Given the description of an element on the screen output the (x, y) to click on. 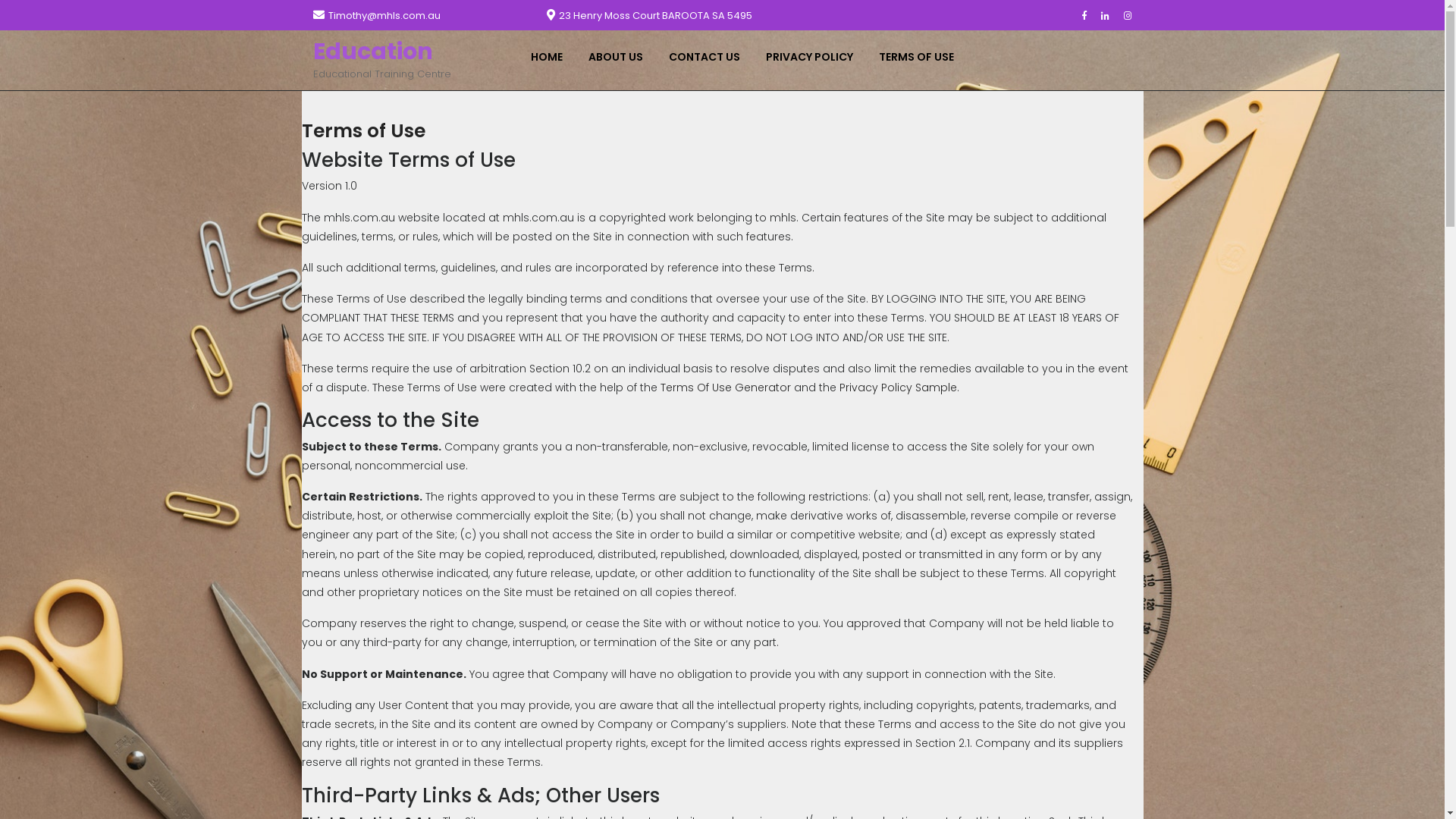
CONTACT US Element type: text (708, 56)
Timothy@mhls.com.au Element type: text (383, 15)
TERMS OF USE Element type: text (920, 56)
Terms Of Use Generator Element type: text (724, 387)
Education Element type: text (372, 51)
Instagram Element type: text (1133, 14)
Linkedin Element type: text (1110, 14)
ABOUT US Element type: text (619, 56)
Facebook Element type: text (1089, 14)
Privacy Policy Sample Element type: text (897, 387)
HOME Element type: text (550, 56)
PRIVACY POLICY Element type: text (813, 56)
